Given the description of an element on the screen output the (x, y) to click on. 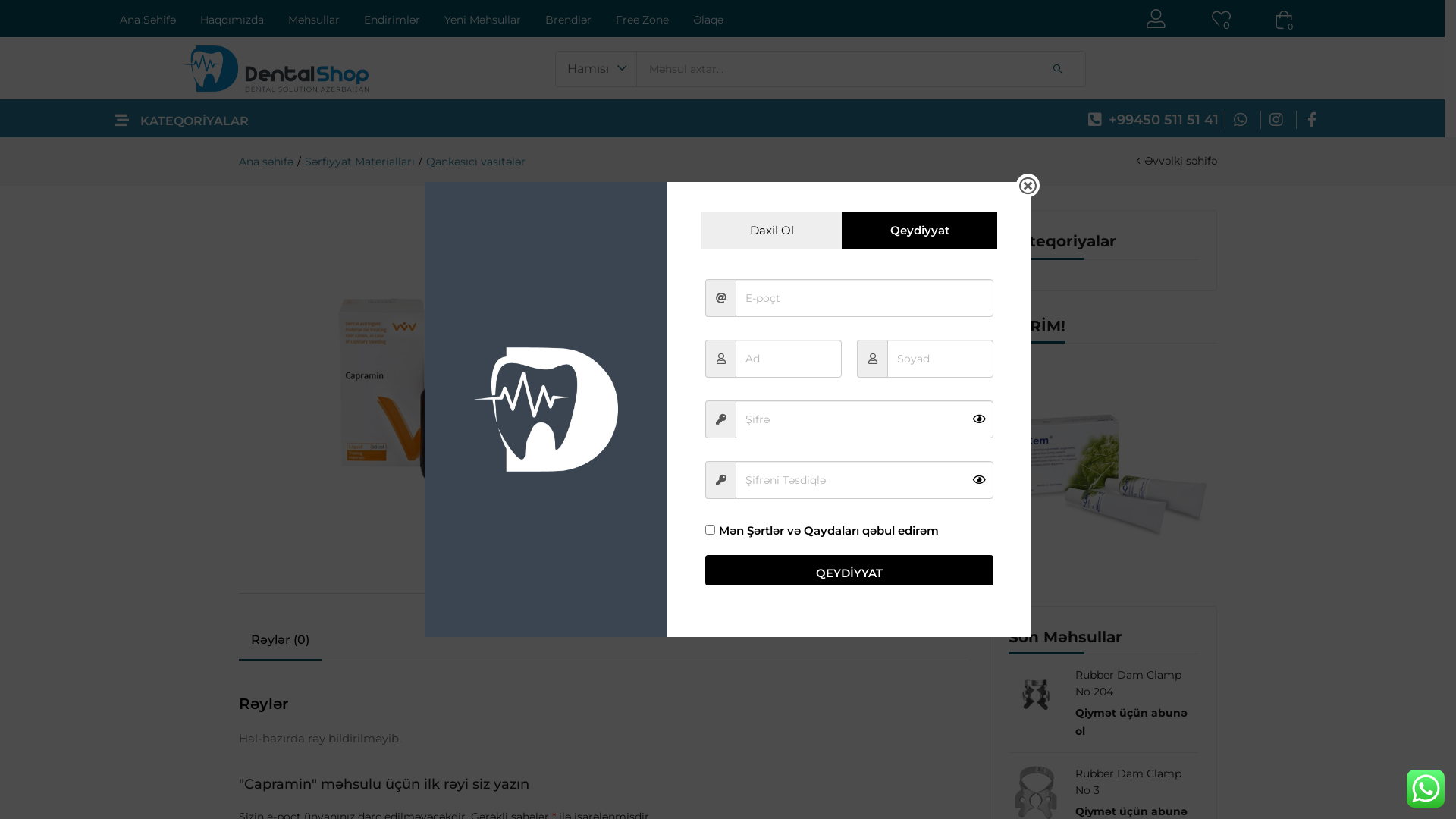
orafil_g_1 Element type: hover (414, 386)
Rubber Dam Clamp No 3 Element type: text (1132, 781)
Capramin Element type: hover (738, 461)
#capramin Element type: text (680, 384)
Free Zone Element type: text (641, 20)
0 Element type: text (1220, 20)
#dentalshop Element type: text (749, 384)
Capramin Element type: hover (629, 461)
Capramin Element type: hover (702, 461)
QEYDIYYAT Element type: text (849, 570)
Rubber Dam Clamp No 204 Element type: text (1132, 682)
Capramin Element type: hover (665, 461)
